Given the description of an element on the screen output the (x, y) to click on. 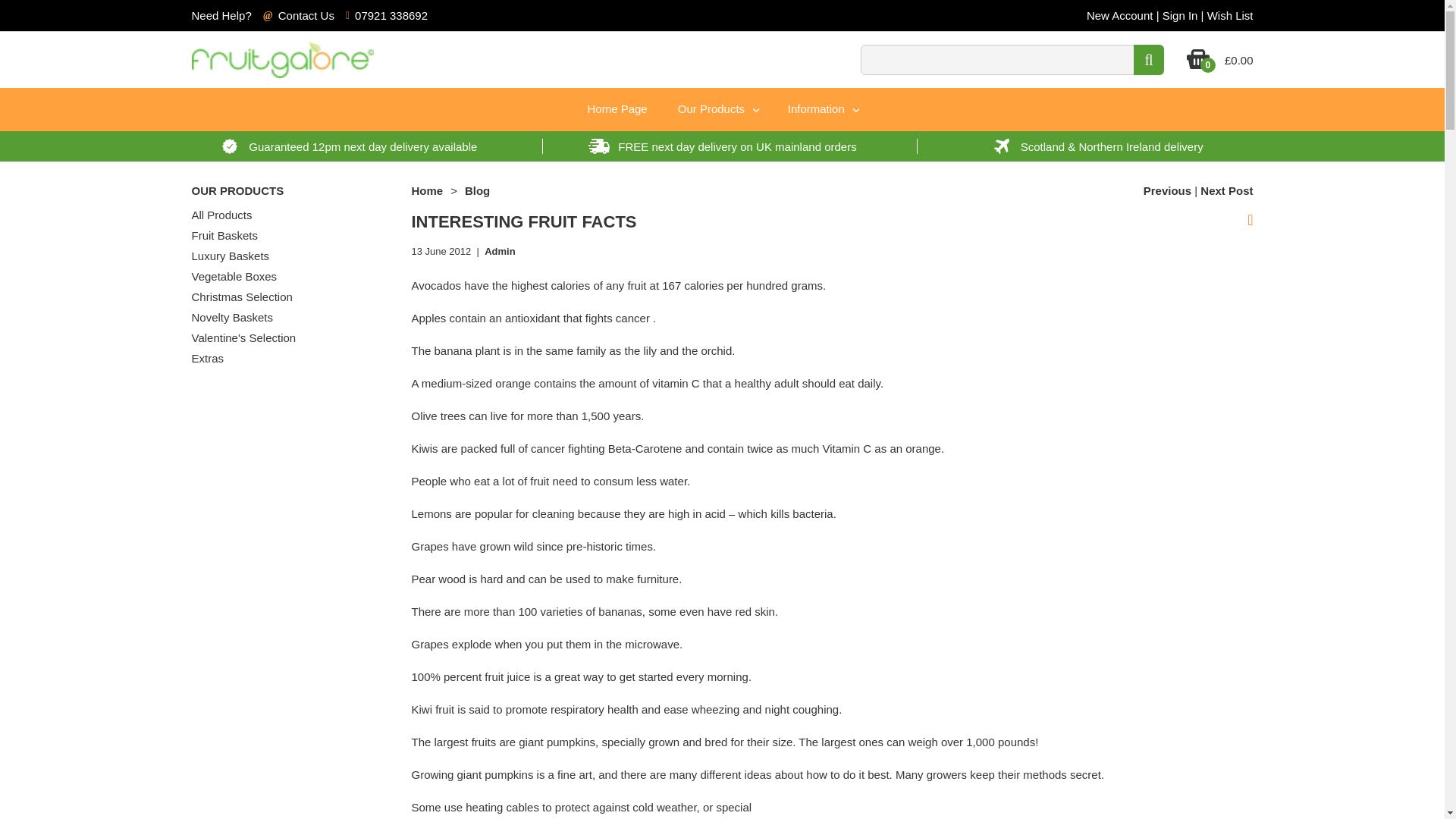
Guaranteed 12pm next day delivery available (347, 145)
Go (1148, 60)
Wish List (1230, 15)
Luxury Baskets (229, 255)
Home Page (617, 108)
All Products (220, 214)
Information (822, 109)
Sign In (1179, 15)
Contact Us (306, 15)
